Given the description of an element on the screen output the (x, y) to click on. 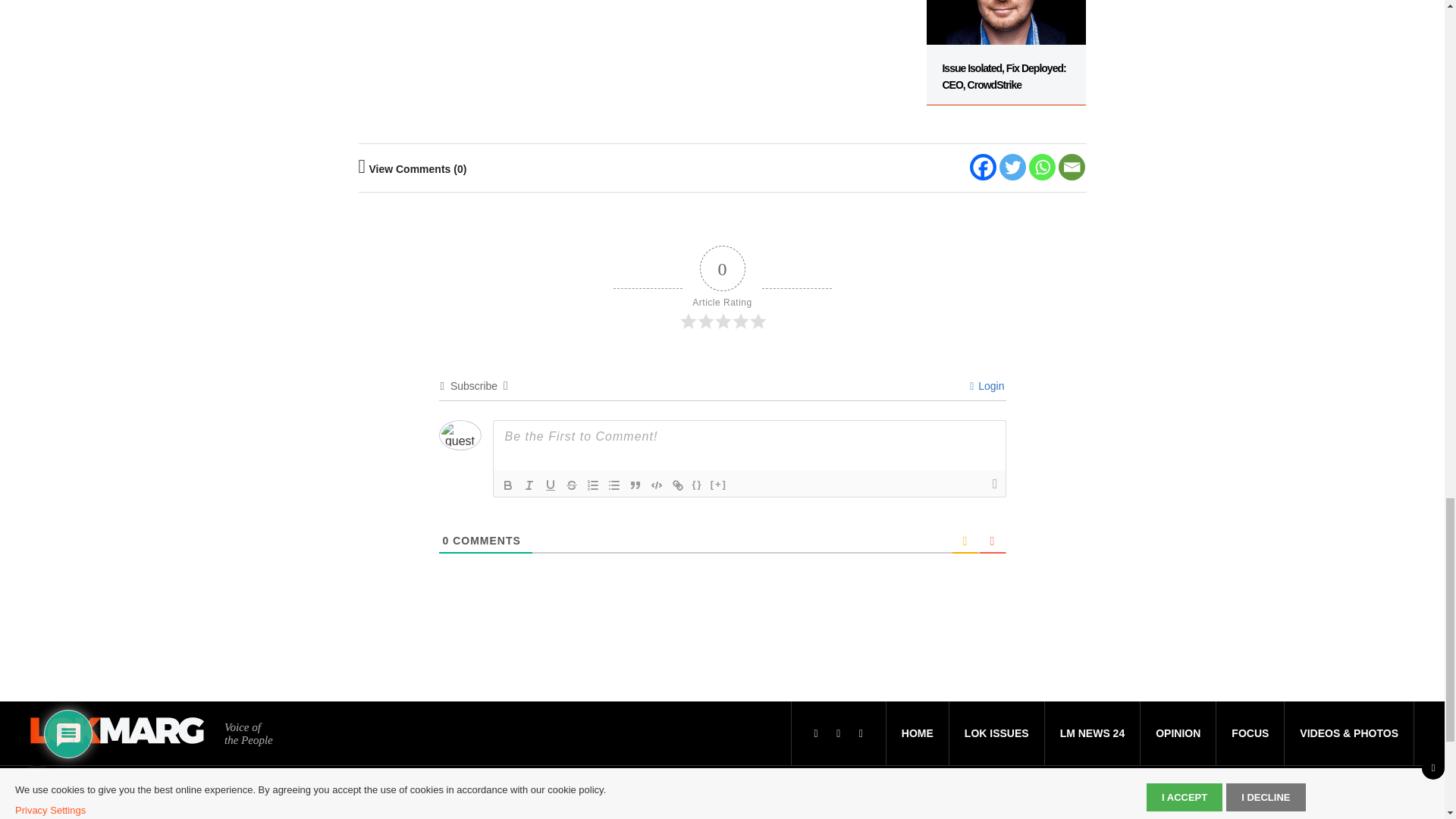
Login (986, 386)
Issue Isolated, Fix Deployed: CEO, CrowdStrike (1006, 52)
